Given the description of an element on the screen output the (x, y) to click on. 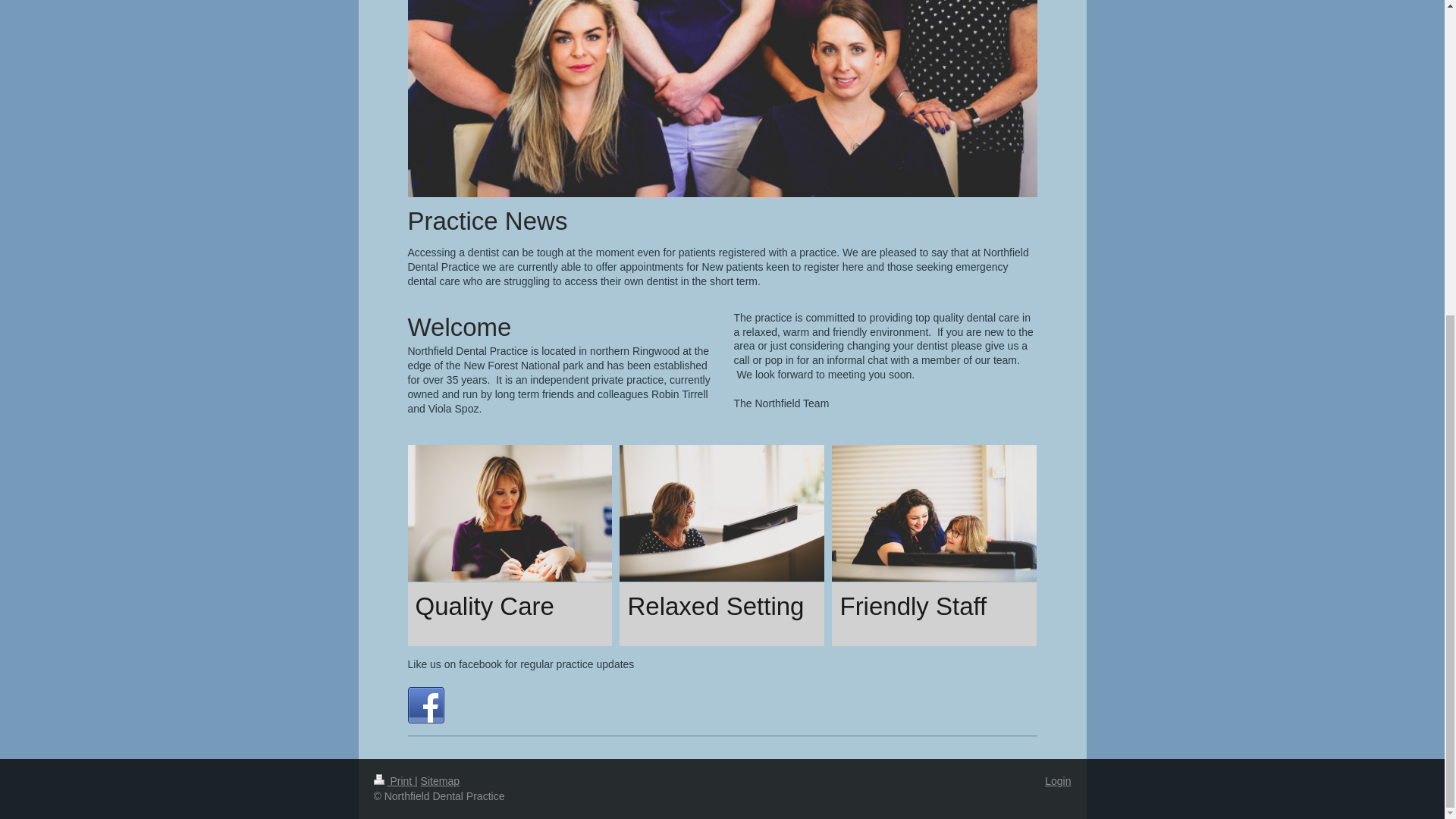
Login (1057, 780)
Sitemap (440, 780)
Print (393, 780)
